Given the description of an element on the screen output the (x, y) to click on. 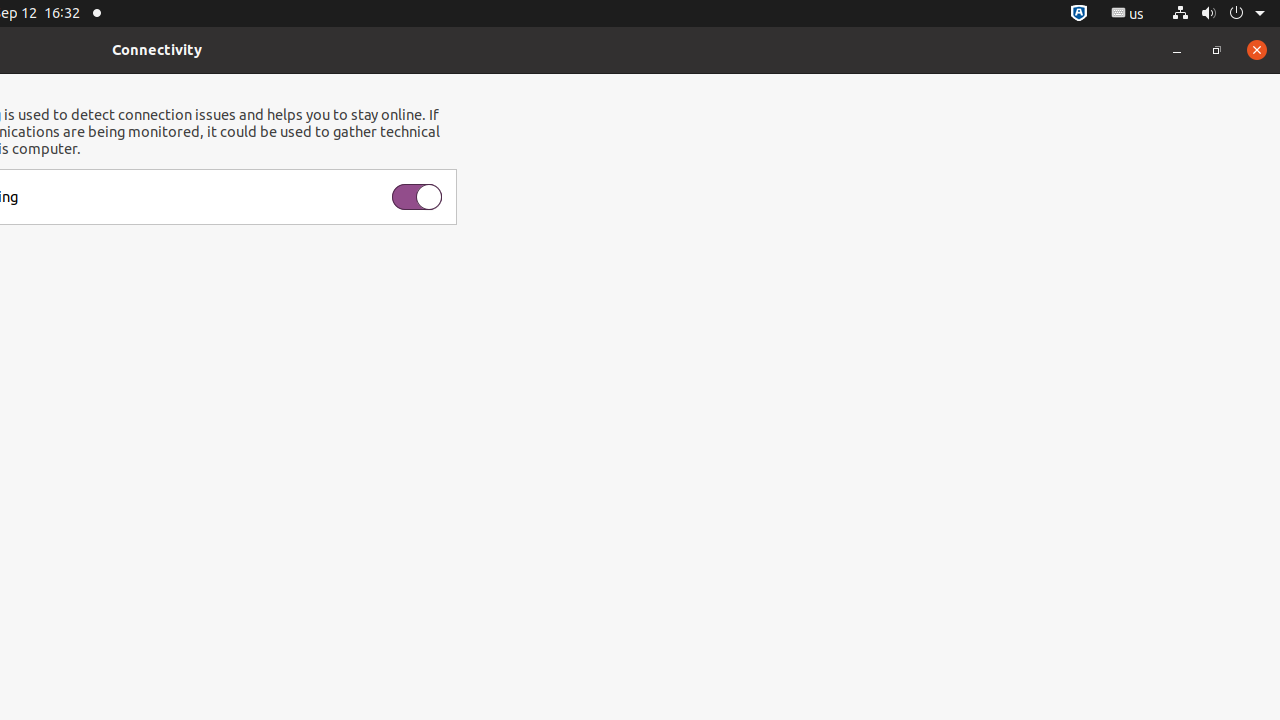
Minimize Element type: push-button (1177, 50)
Restore Element type: push-button (1217, 50)
Connectivity Element type: label (157, 49)
